Given the description of an element on the screen output the (x, y) to click on. 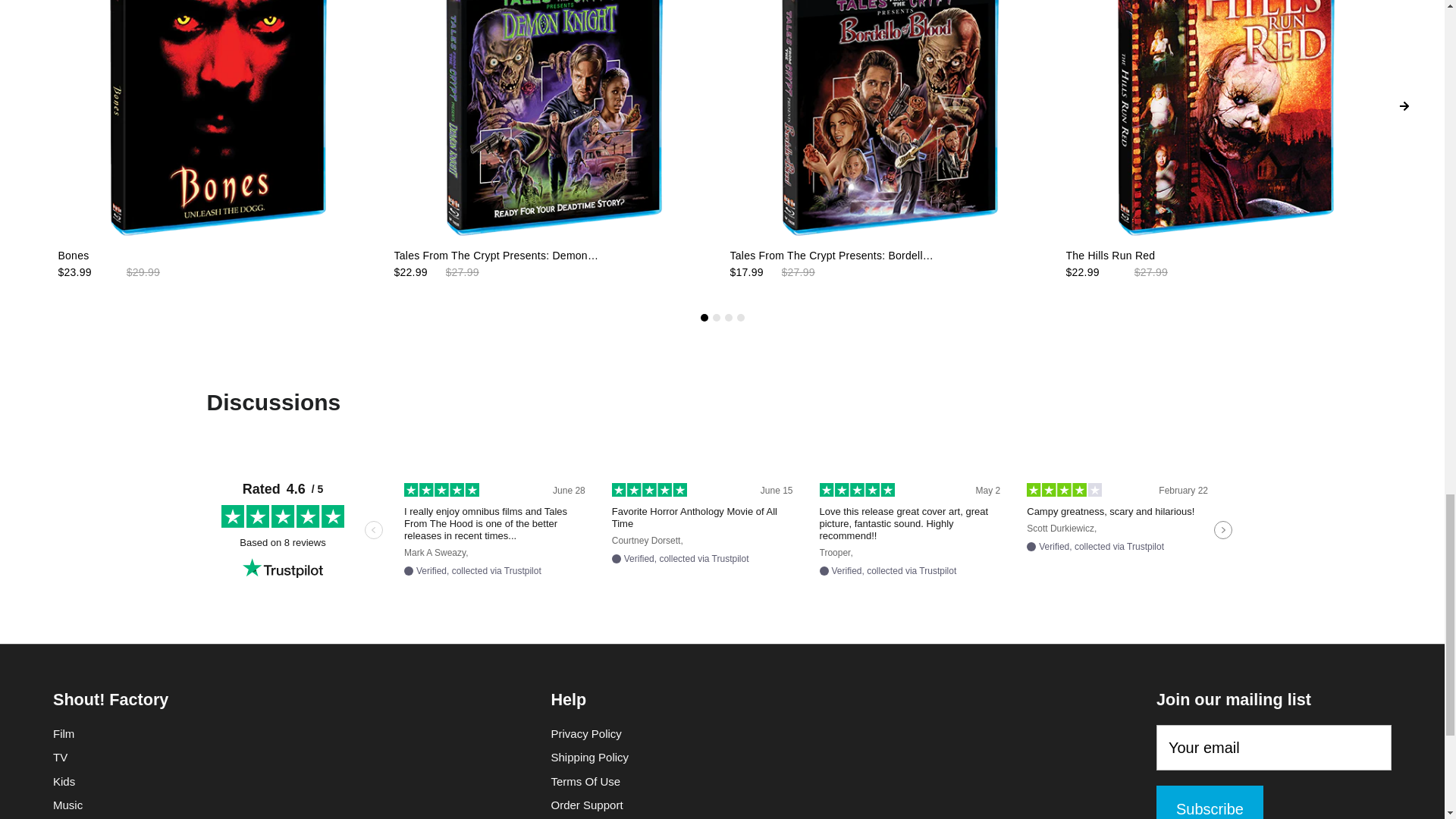
Customer reviews powered by Trustpilot (721, 529)
